Given the description of an element on the screen output the (x, y) to click on. 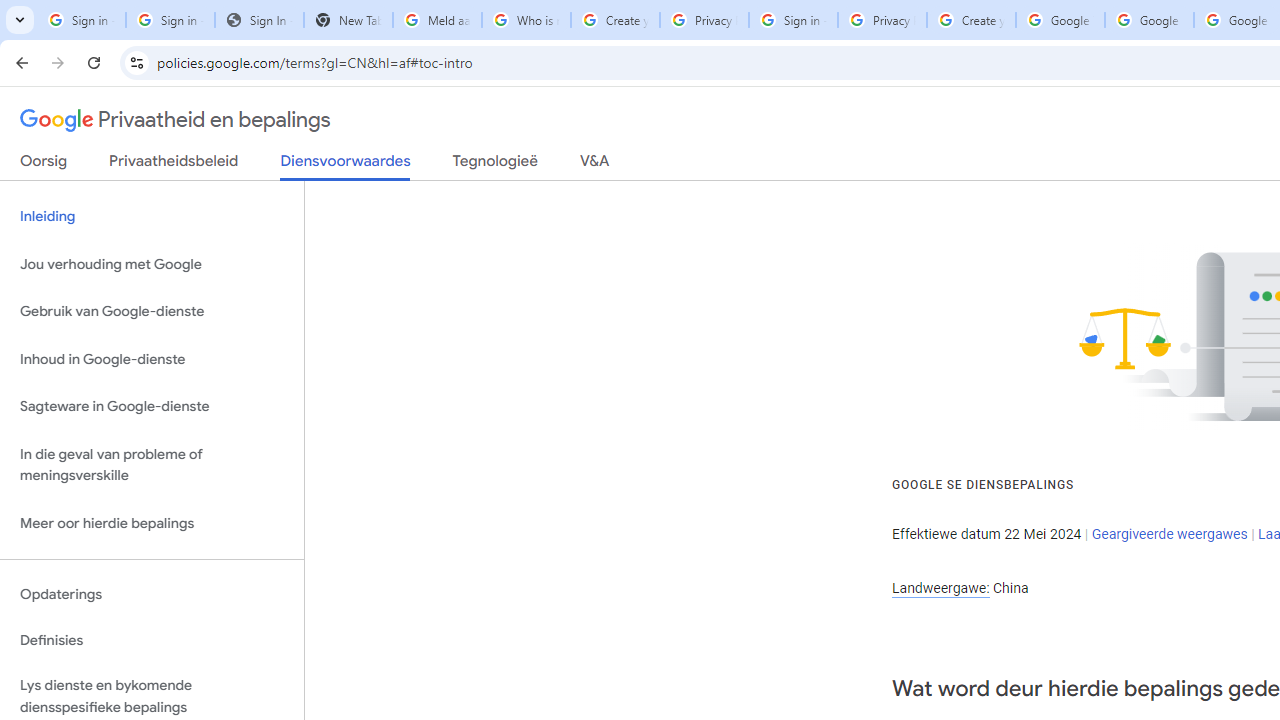
Inhoud in Google-dienste (152, 358)
Gebruik van Google-dienste (152, 312)
Inleiding (152, 216)
In die geval van probleme of meningsverskille (152, 464)
Sagteware in Google-dienste (152, 407)
New Tab (347, 20)
Privaatheid en bepalings (175, 120)
Definisies (152, 640)
Who is my administrator? - Google Account Help (526, 20)
